Given the description of an element on the screen output the (x, y) to click on. 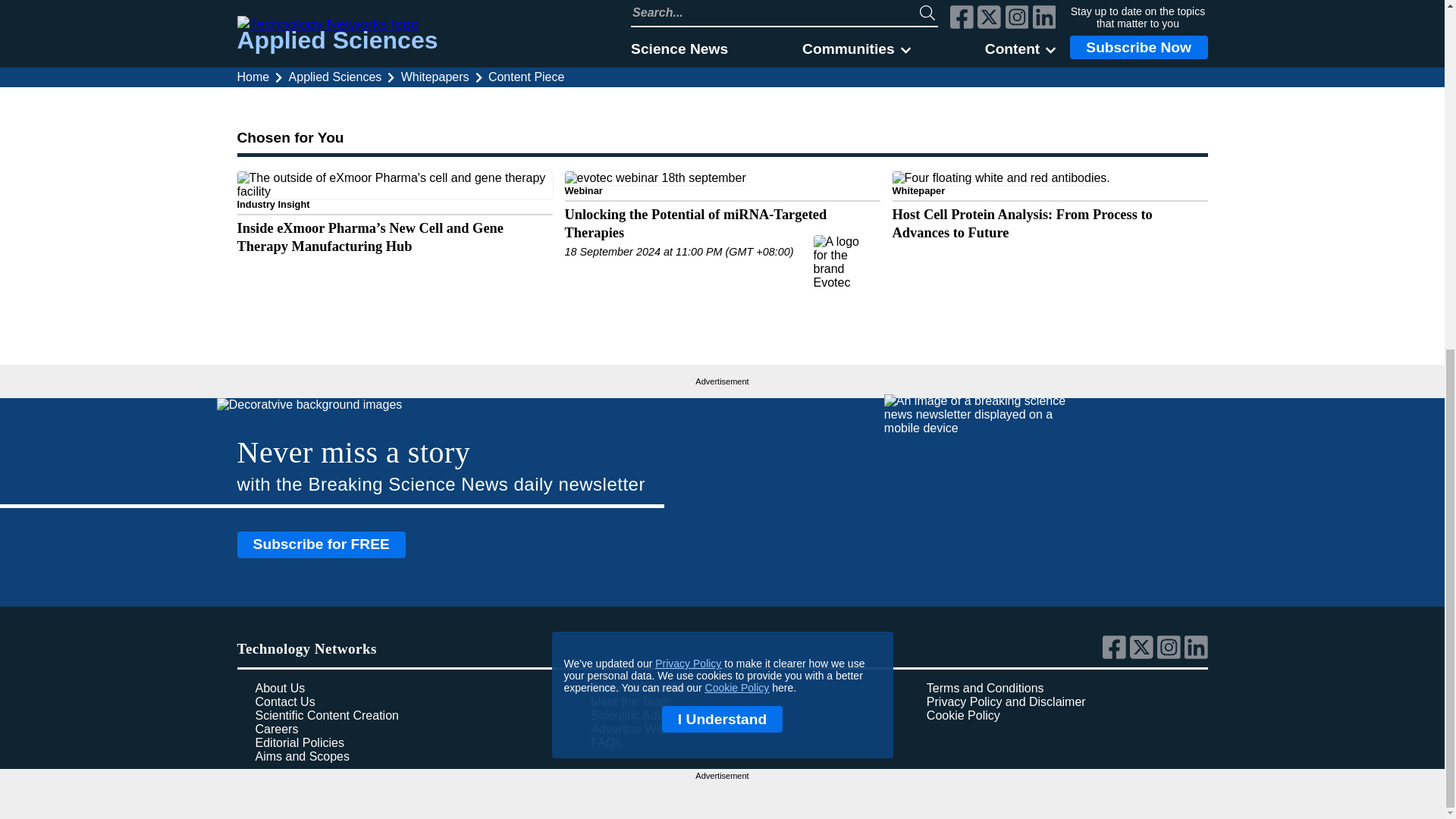
Cookie Policy (737, 82)
Link to Technology Networks' facebook page (1115, 655)
Link to Technology Networks' twitter page (1143, 655)
Link to Technology Networks' linkedin page (1196, 655)
Link to Technology Networks' instagram page (1171, 655)
I Understand (722, 113)
Privacy Policy (687, 58)
